Given the description of an element on the screen output the (x, y) to click on. 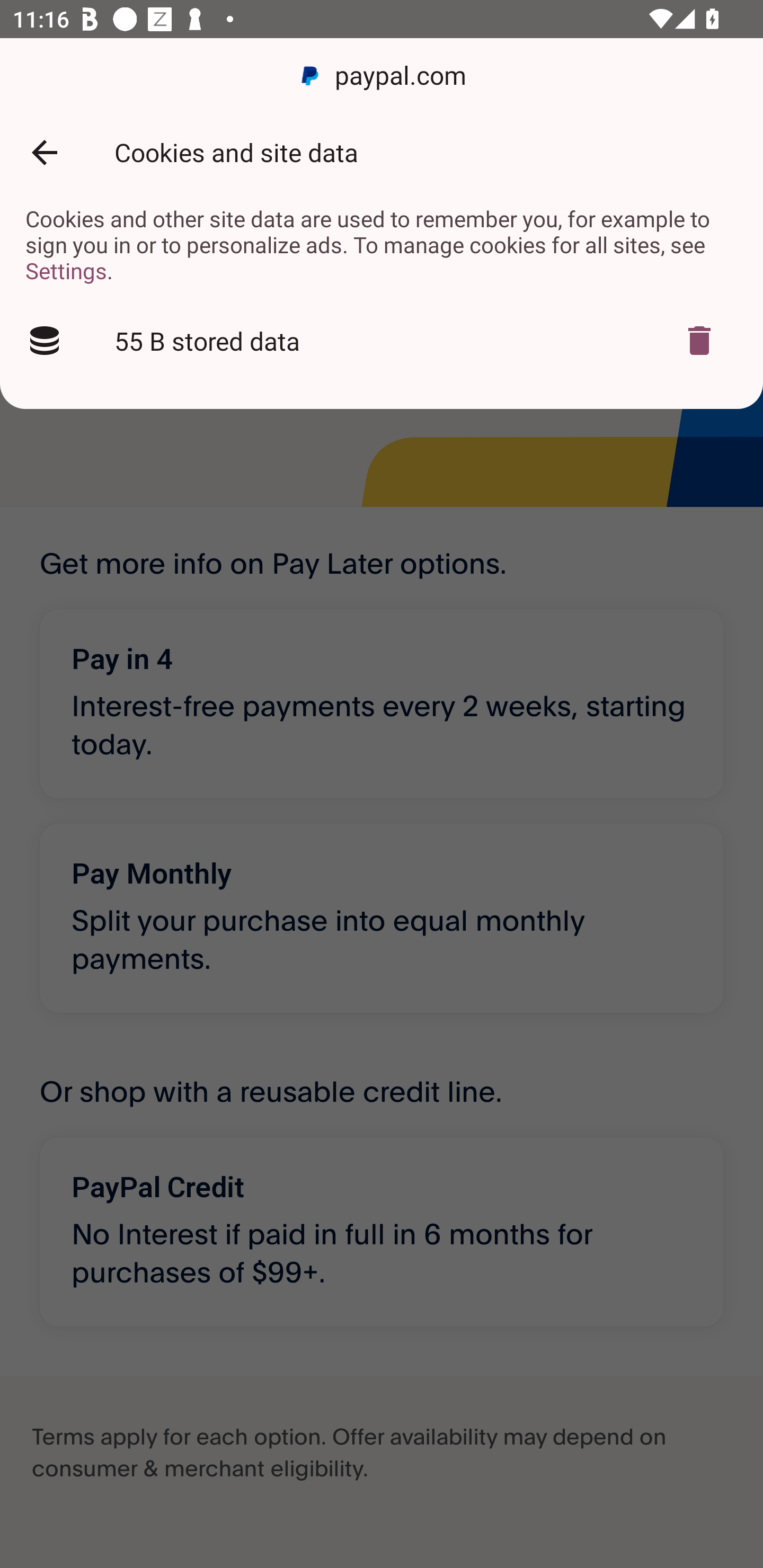
paypal.com (381, 75)
Back (44, 152)
55 B stored data Delete cookies? (381, 340)
